Given the description of an element on the screen output the (x, y) to click on. 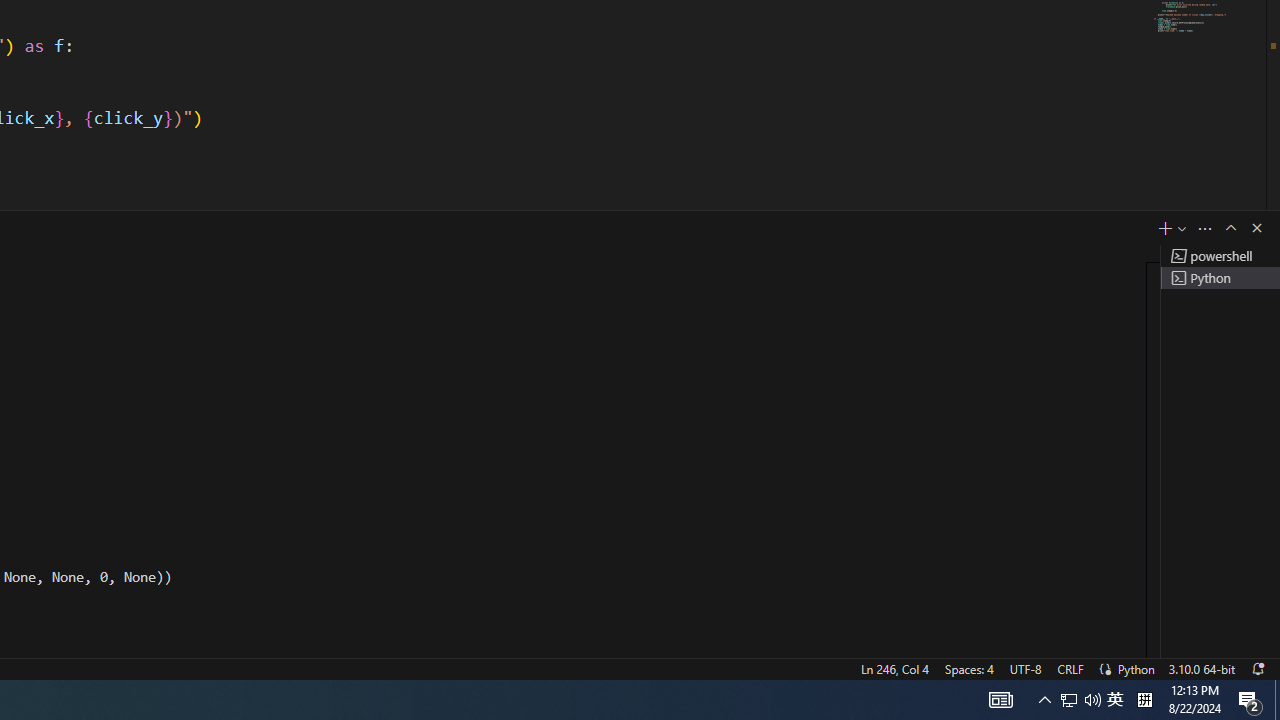
Hide Panel (1256, 227)
